Given the description of an element on the screen output the (x, y) to click on. 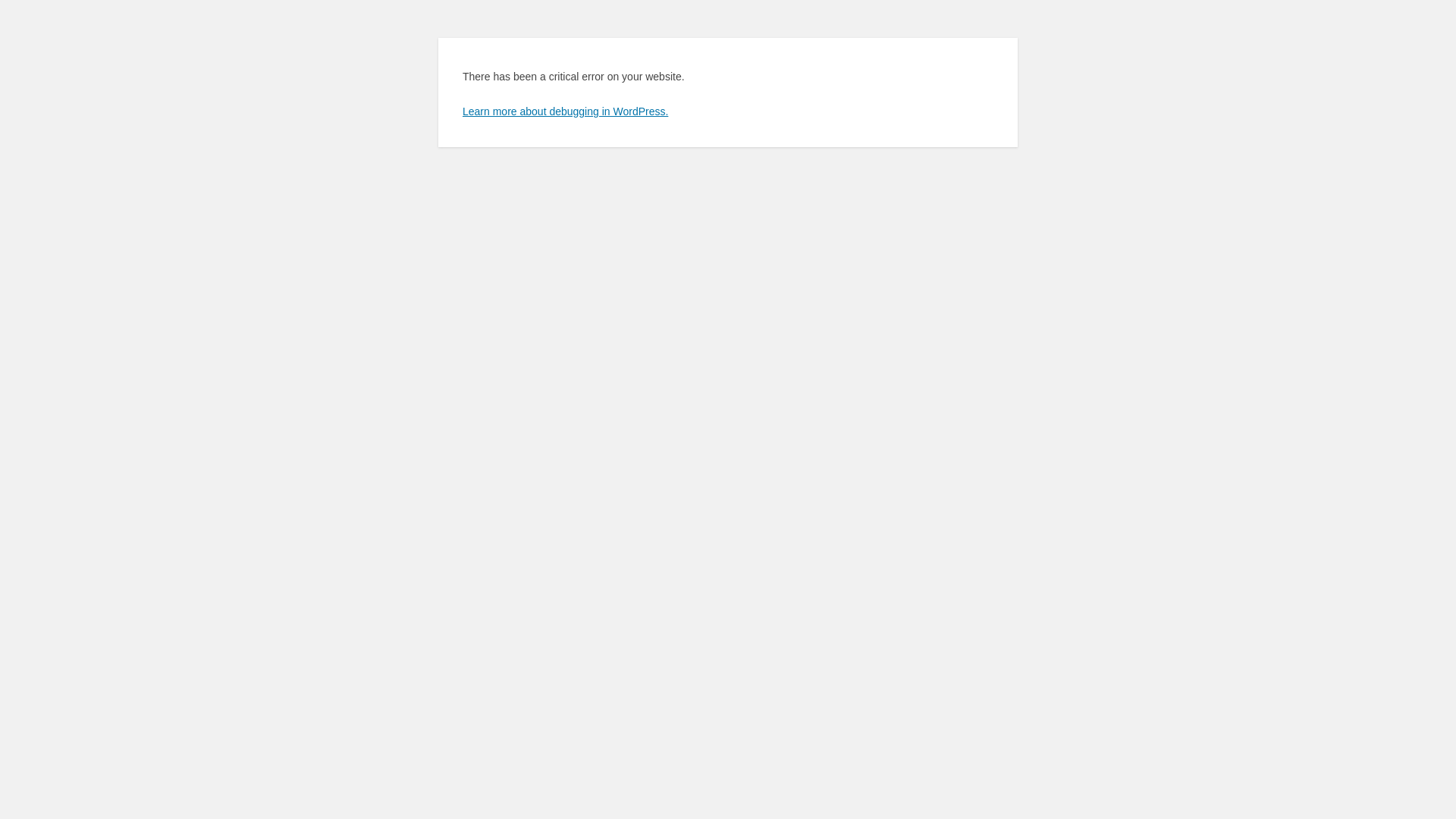
Learn more about debugging in WordPress. Element type: text (565, 111)
